Given the description of an element on the screen output the (x, y) to click on. 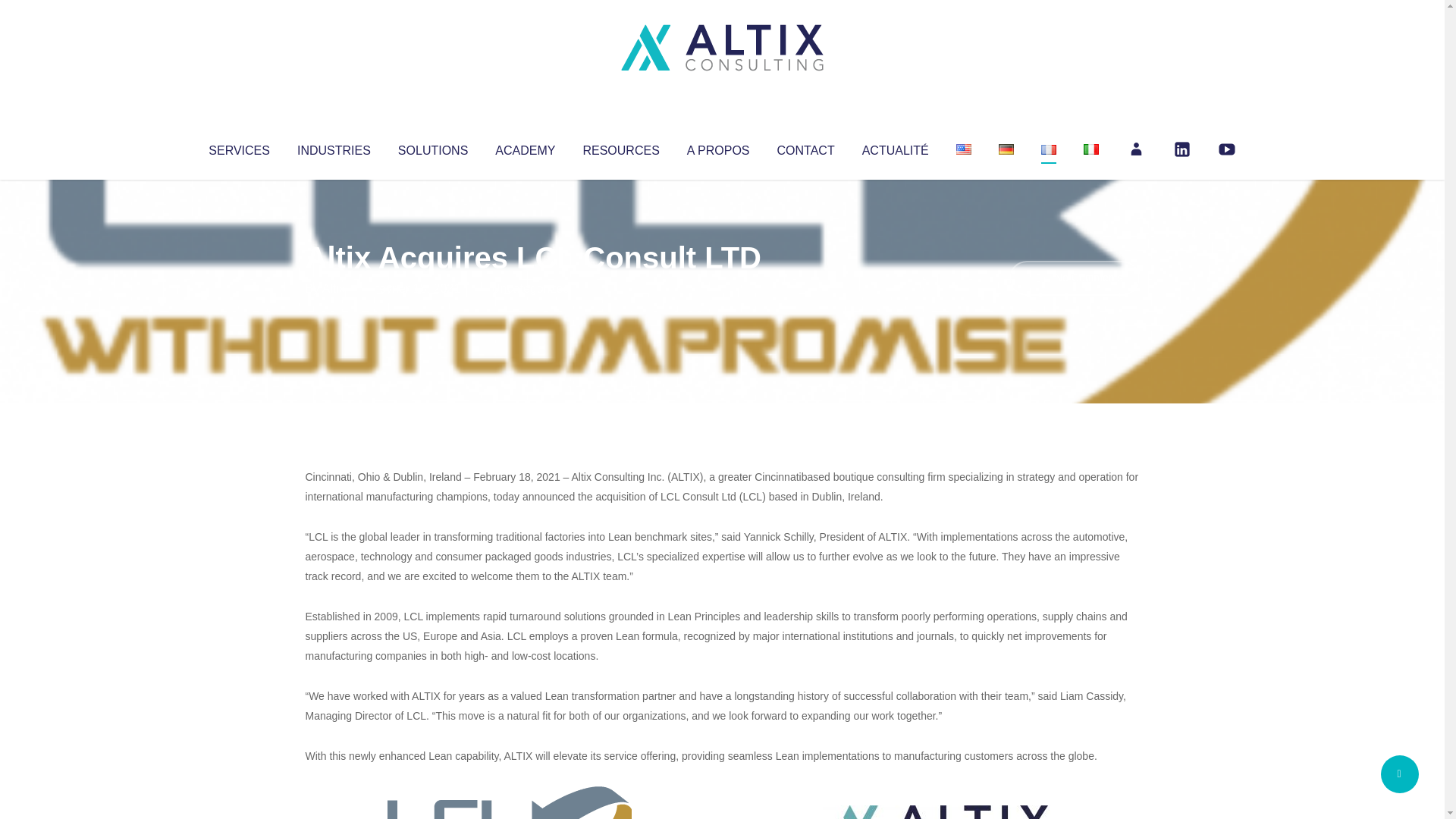
SERVICES (238, 146)
INDUSTRIES (334, 146)
A PROPOS (718, 146)
Altix (333, 287)
Articles par Altix (333, 287)
SOLUTIONS (432, 146)
No Comments (1073, 278)
ACADEMY (524, 146)
Uncategorized (530, 287)
RESOURCES (620, 146)
